Given the description of an element on the screen output the (x, y) to click on. 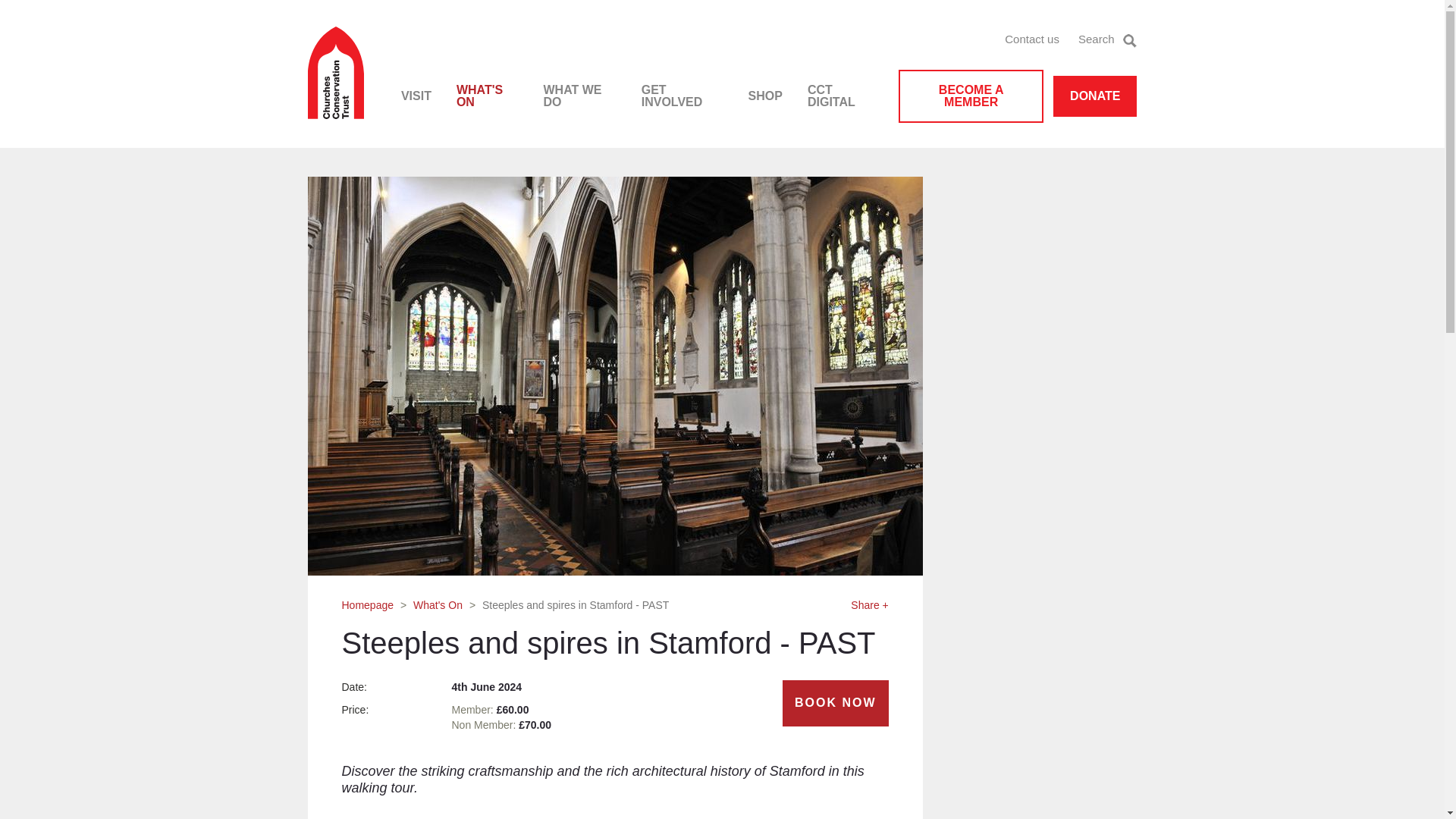
Contact us (1031, 38)
BECOME A MEMBER (970, 95)
WHAT WE DO (579, 95)
GET INVOLVED (681, 95)
WHAT'S ON (487, 95)
Homepage (366, 604)
What's On (438, 604)
SHOP (765, 96)
Search (1107, 38)
CCT DIGITAL (841, 95)
